Given the description of an element on the screen output the (x, y) to click on. 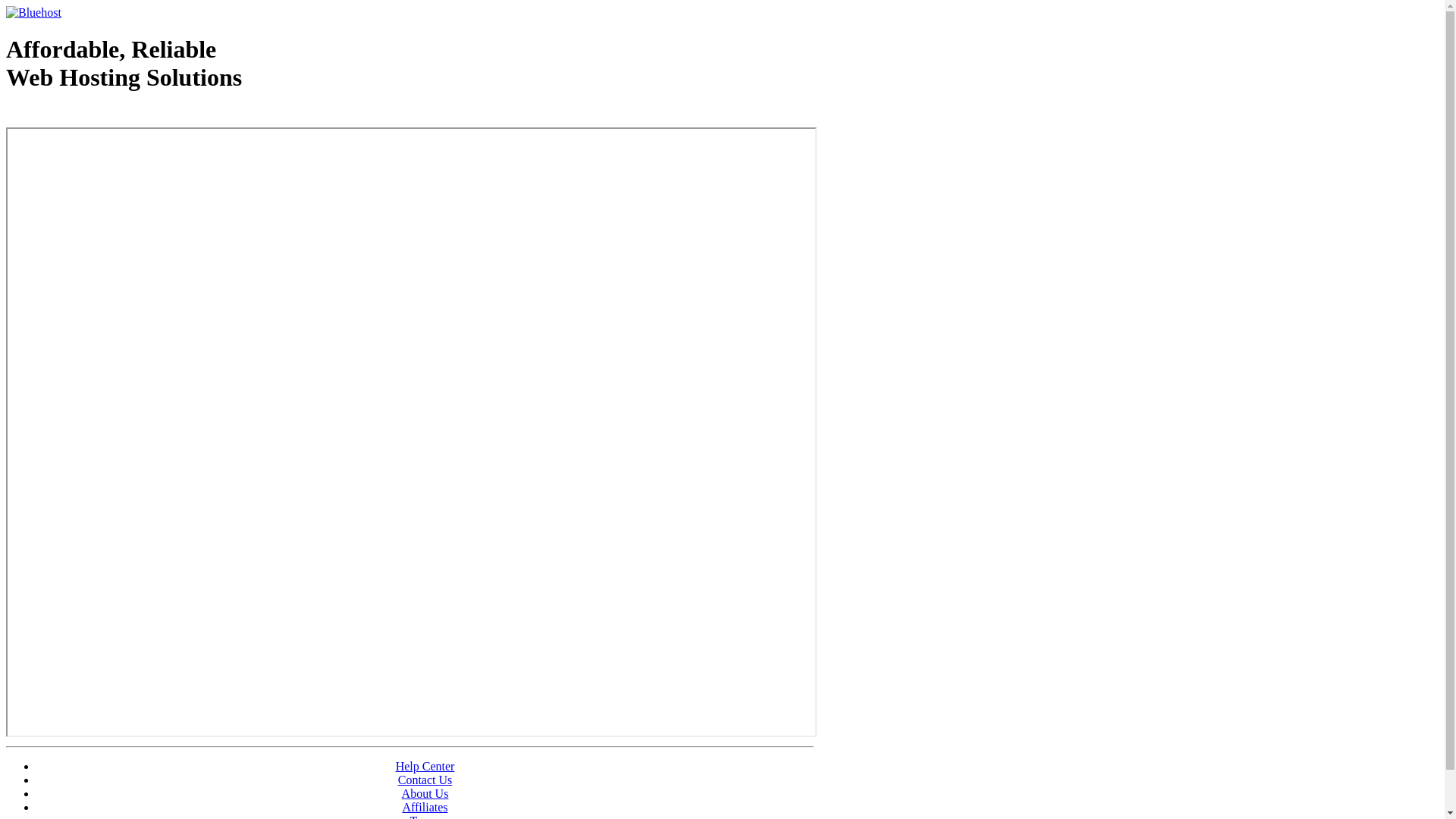
Web Hosting - courtesy of www.bluehost.com Element type: text (94, 115)
Help Center Element type: text (425, 765)
About Us Element type: text (424, 793)
Affiliates Element type: text (424, 806)
Contact Us Element type: text (425, 779)
